Given the description of an element on the screen output the (x, y) to click on. 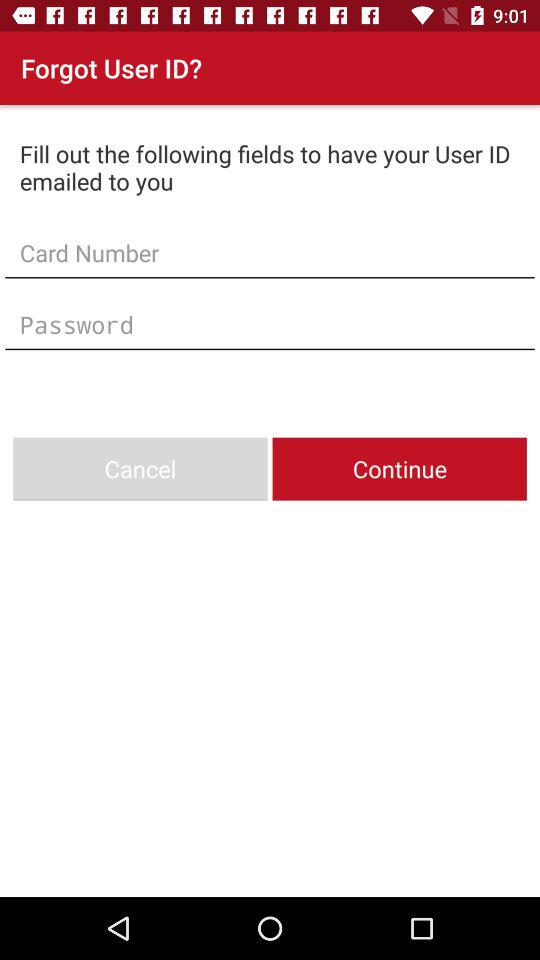
type in your password (270, 324)
